Given the description of an element on the screen output the (x, y) to click on. 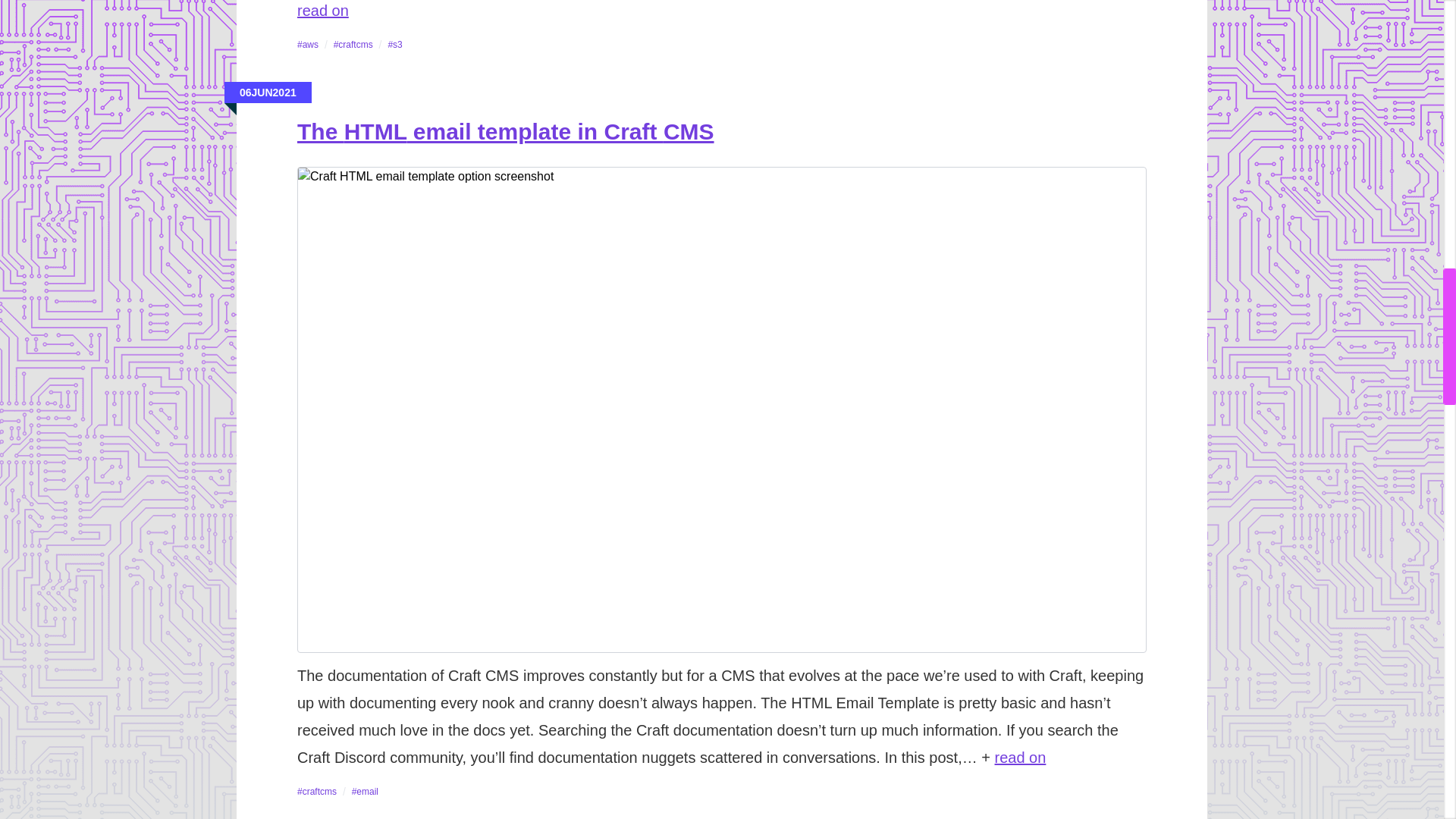
The HTML email template in Craft CMS (1020, 757)
The HTML email template in Craft CMS (505, 131)
read on (323, 10)
read on (1020, 757)
Tweaking site performance and configuring AWS (323, 10)
